Given the description of an element on the screen output the (x, y) to click on. 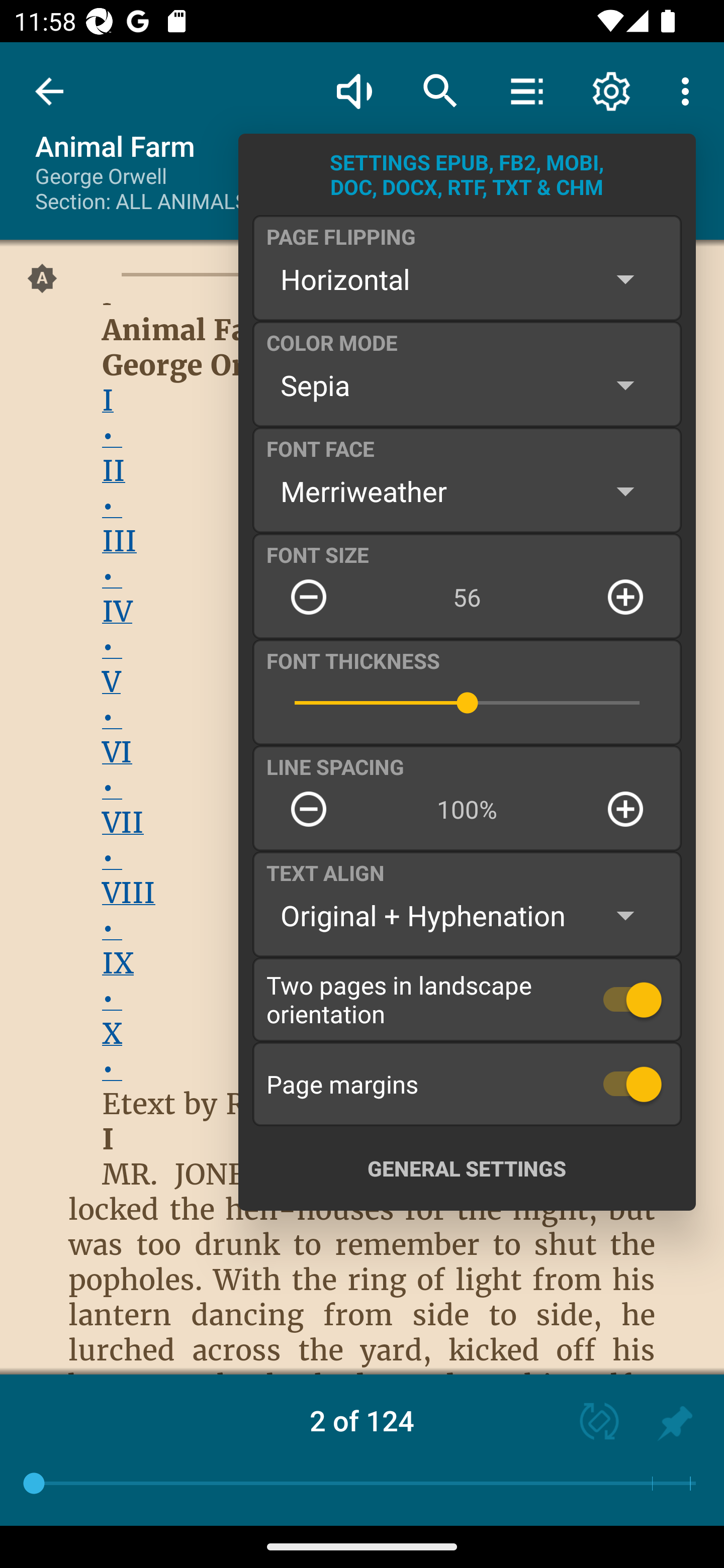
Horizontal (466, 278)
Sepia (466, 384)
Merriweather (466, 490)
Original + Hyphenation (466, 915)
Two pages in landscape orientation (467, 999)
Page margins (467, 1083)
GENERAL SETTINGS (466, 1167)
